Given the description of an element on the screen output the (x, y) to click on. 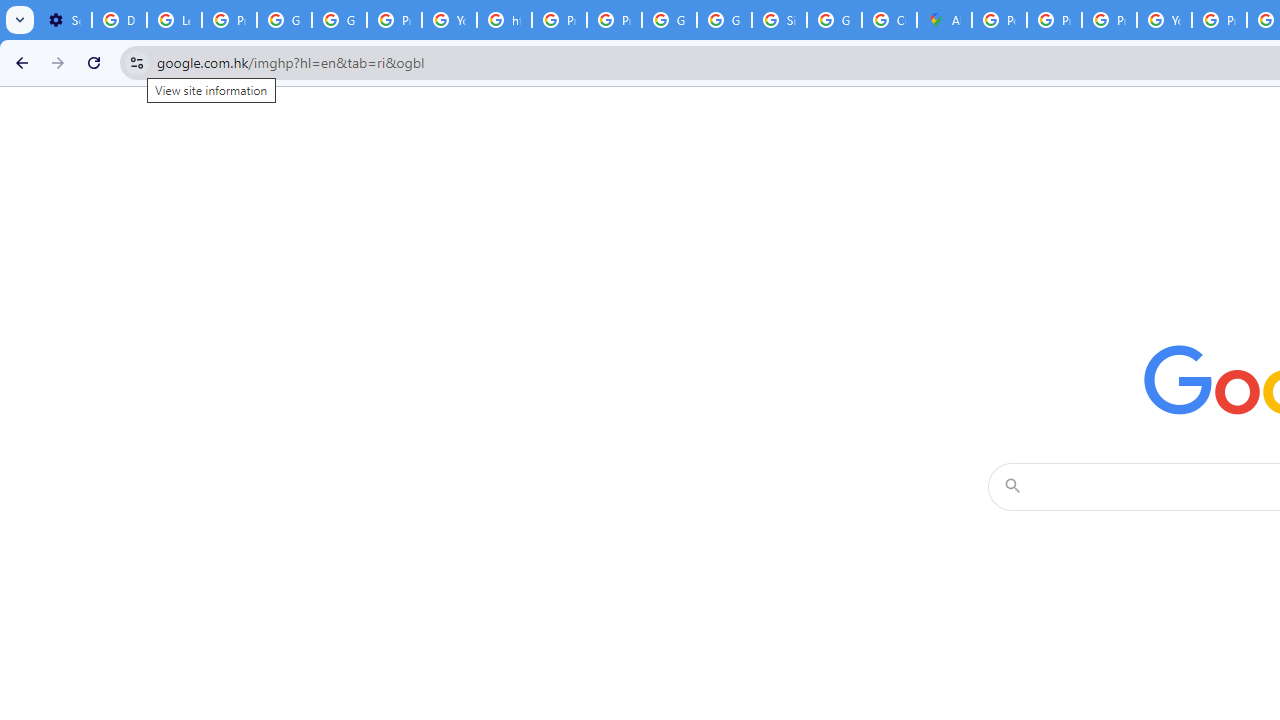
Policy Accountability and Transparency - Transparency Center (998, 20)
Google Account Help (284, 20)
Privacy Help Center - Policies Help (1053, 20)
Privacy Help Center - Policies Help (559, 20)
Settings - On startup (64, 20)
